Given the description of an element on the screen output the (x, y) to click on. 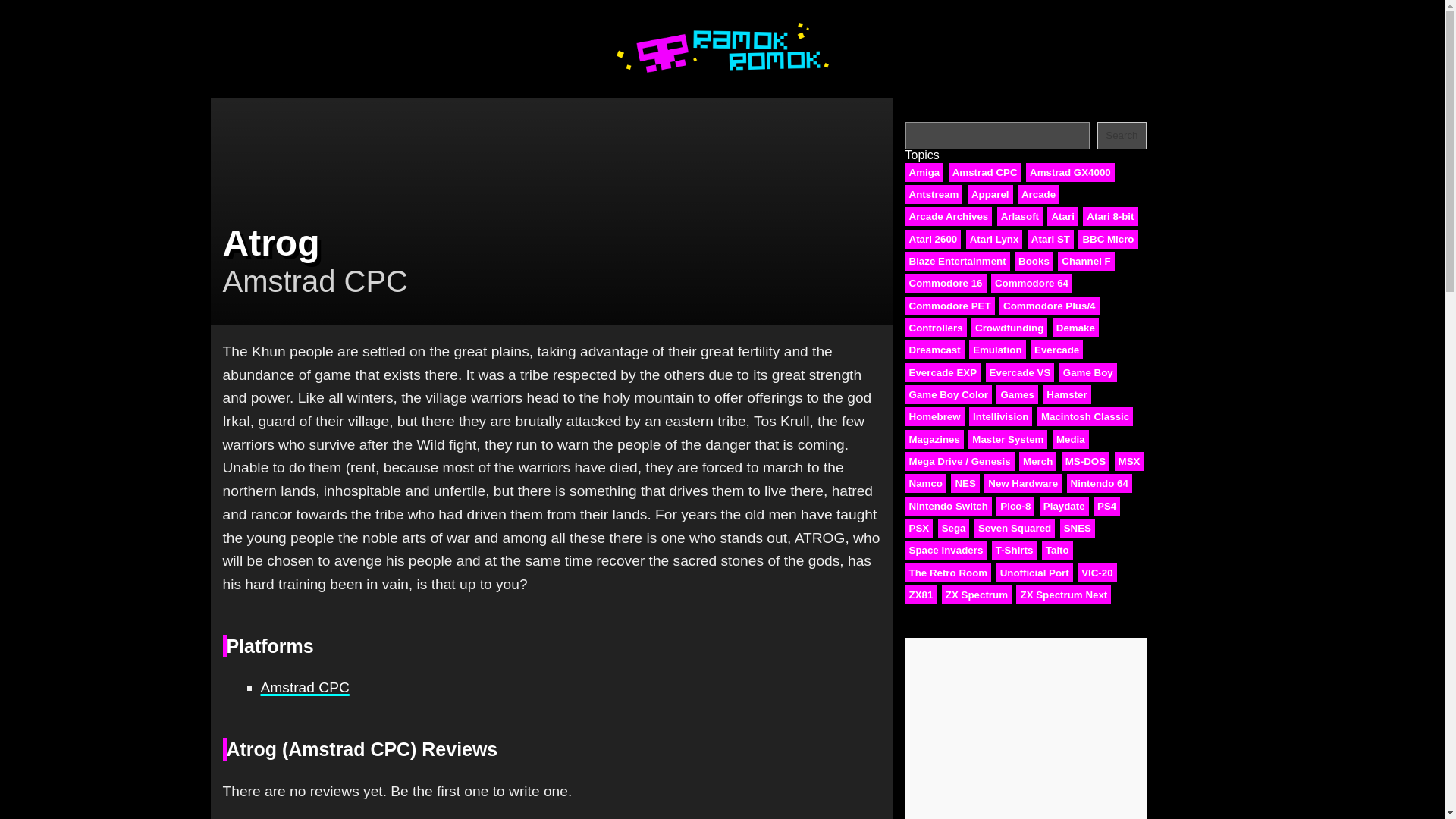
Controllers (935, 327)
Amstrad CPC (304, 687)
Evercade (1056, 349)
Arcade Archives (948, 216)
Books (1033, 261)
Antstream (933, 194)
Apparel (990, 194)
Commodore 16 (946, 282)
Commodore PET (949, 305)
Game Boy (1087, 372)
